Given the description of an element on the screen output the (x, y) to click on. 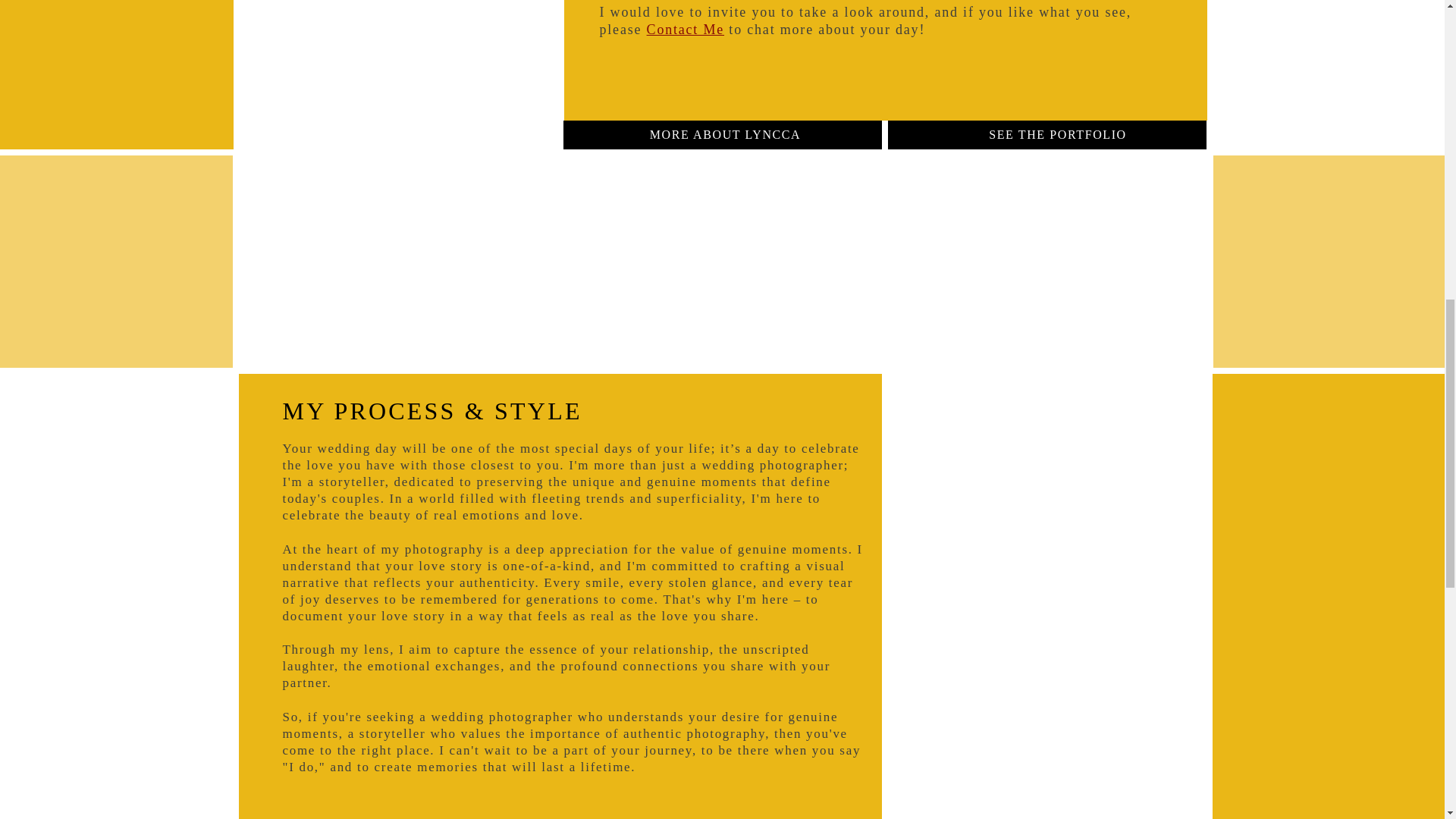
SEE THE PORTFOLIO (1058, 134)
Contact Me (684, 29)
MORE ABOUT LYNCCA (725, 134)
